Given the description of an element on the screen output the (x, y) to click on. 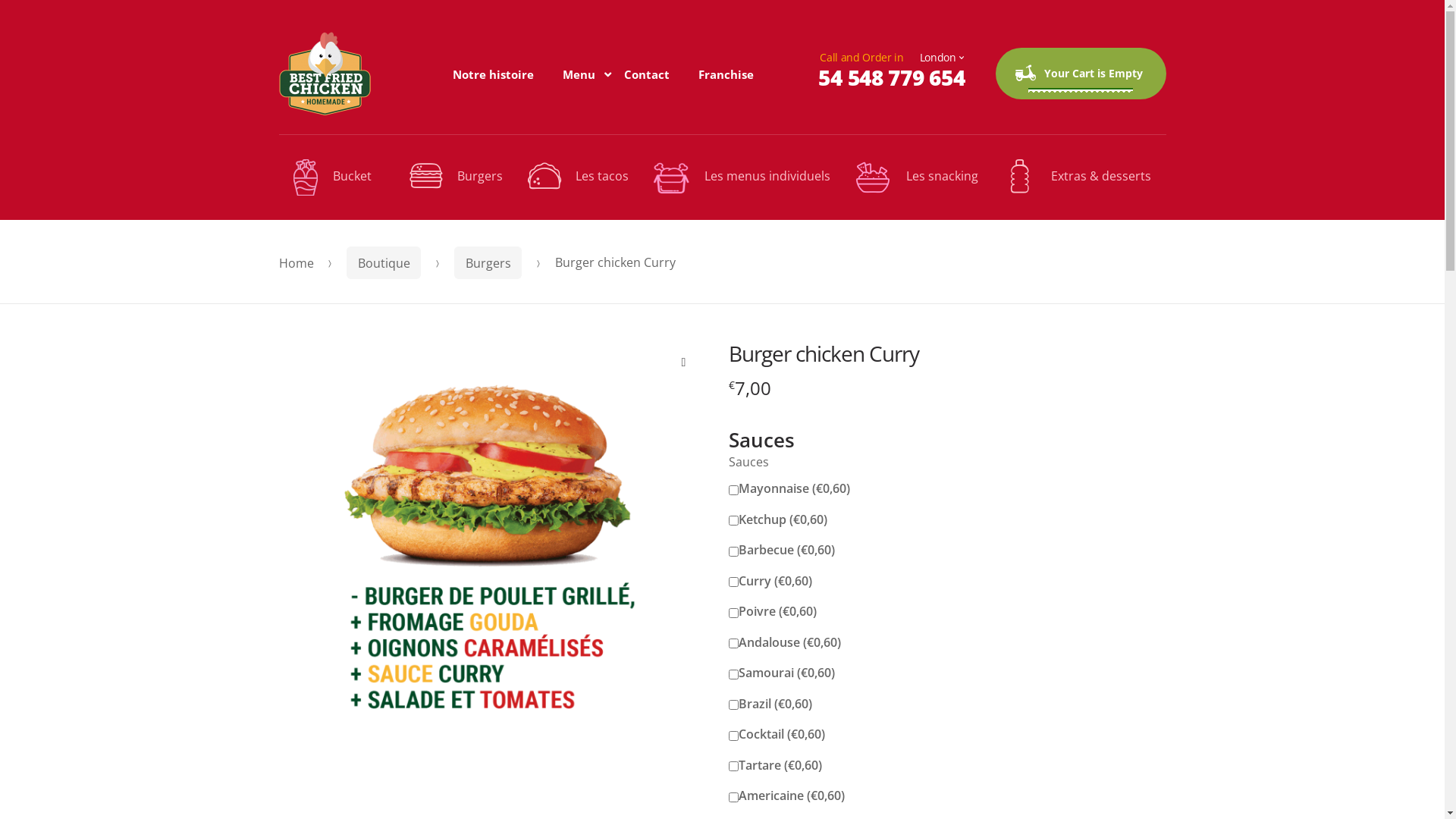
BURGERCURRY Element type: hover (492, 554)
Boutique Element type: text (383, 262)
Bucket Element type: text (339, 176)
Les tacos Element type: text (577, 175)
Burgers Element type: text (488, 262)
Your Cart is Empty Element type: text (1079, 72)
Menu Element type: text (578, 73)
Home Element type: text (296, 262)
Contact Element type: text (646, 73)
Franchise Element type: text (726, 73)
Les menus individuels Element type: text (741, 176)
Skip to navigation Element type: text (277, 31)
Les snacking Element type: text (916, 176)
Burgers Element type: text (455, 175)
Notre histoire Element type: text (493, 73)
Extras & desserts Element type: text (1076, 175)
